Given the description of an element on the screen output the (x, y) to click on. 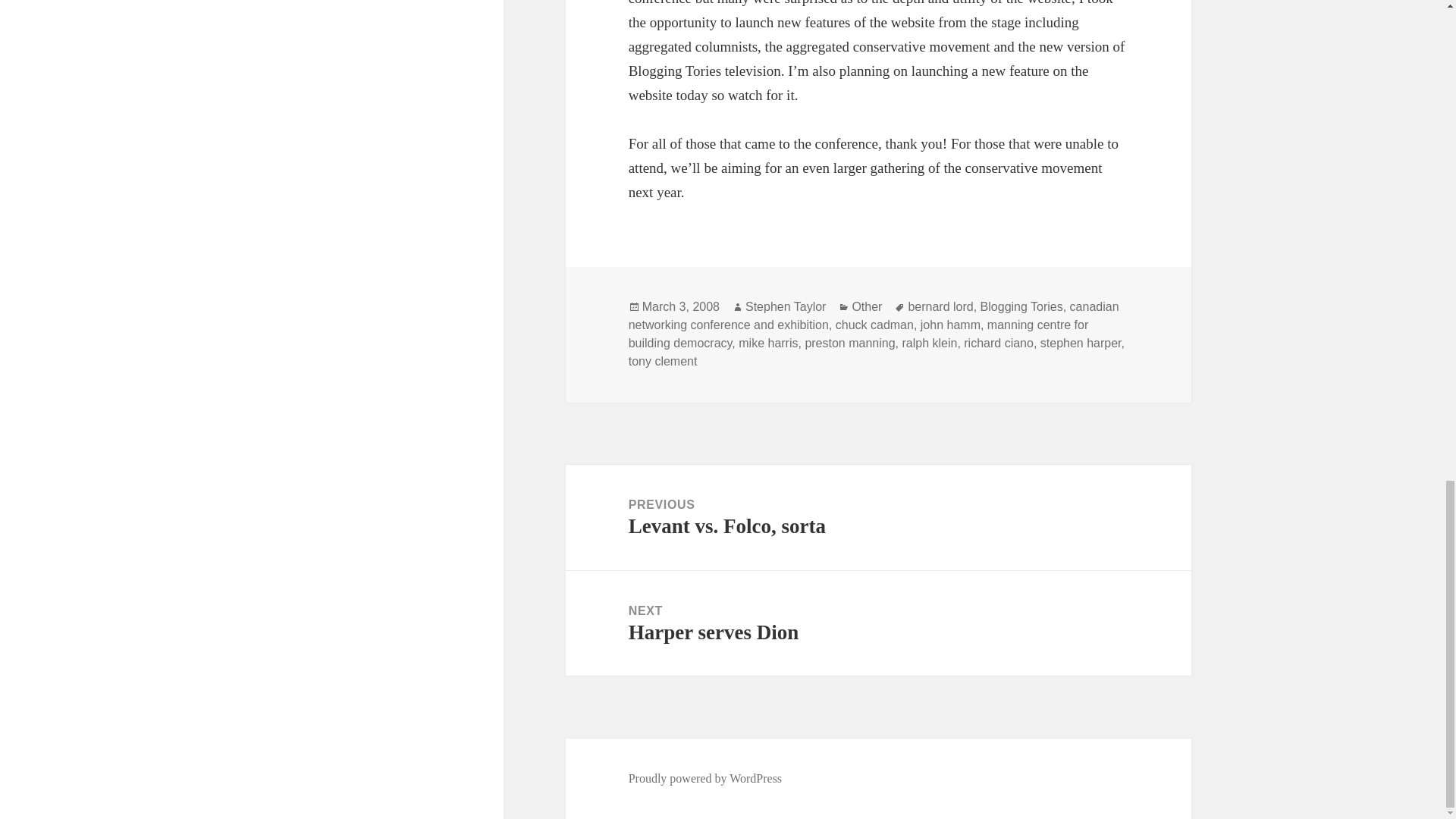
canadian networking conference and exhibition (873, 316)
Stephen Taylor (785, 306)
Blogging Tories (1020, 306)
bernard lord (939, 306)
manning centre for building democracy (858, 334)
preston manning (850, 343)
Other (866, 306)
March 3, 2008 (680, 306)
mike harris (767, 343)
chuck cadman (874, 325)
